Given the description of an element on the screen output the (x, y) to click on. 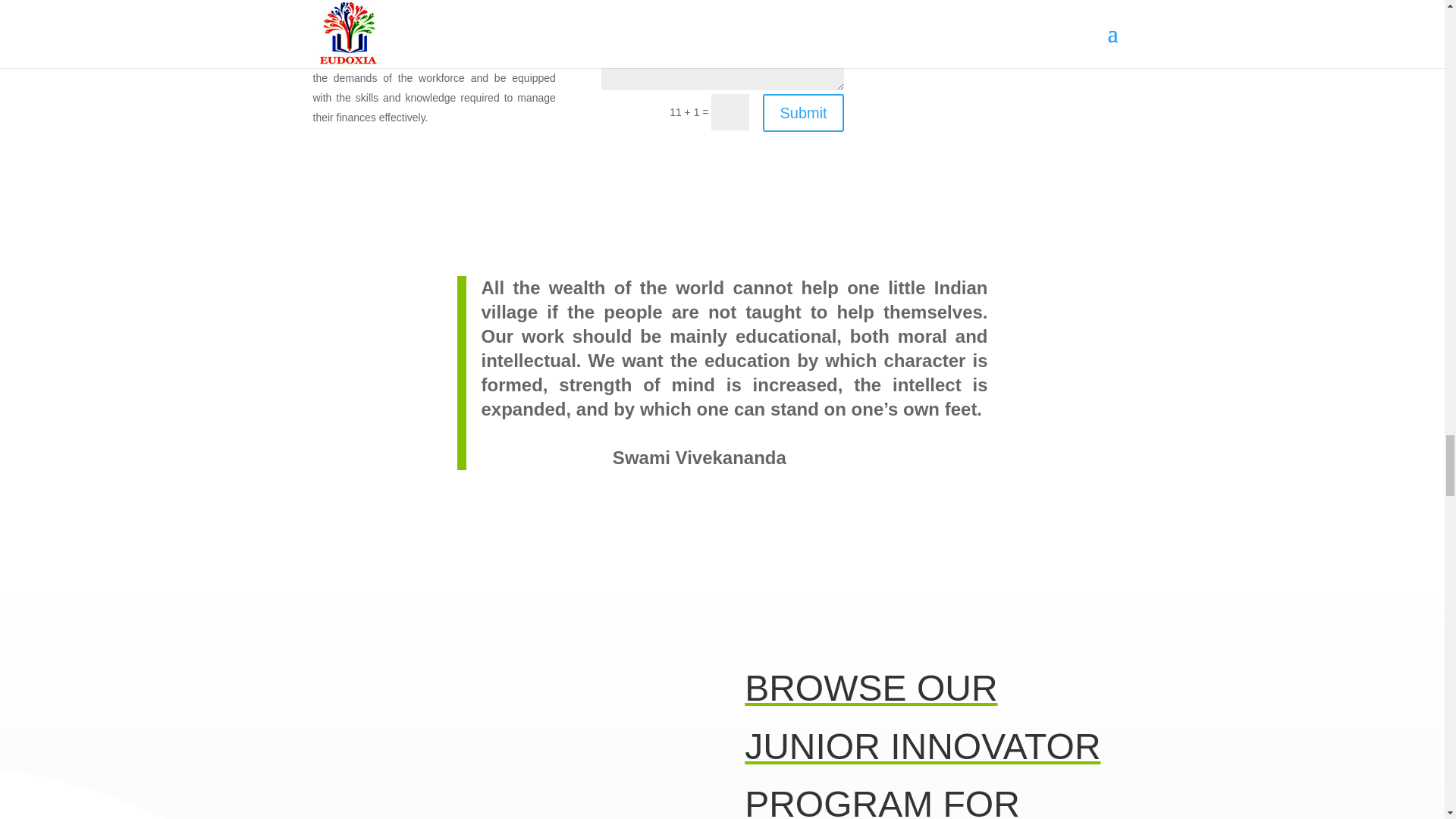
Submit (802, 112)
